Given the description of an element on the screen output the (x, y) to click on. 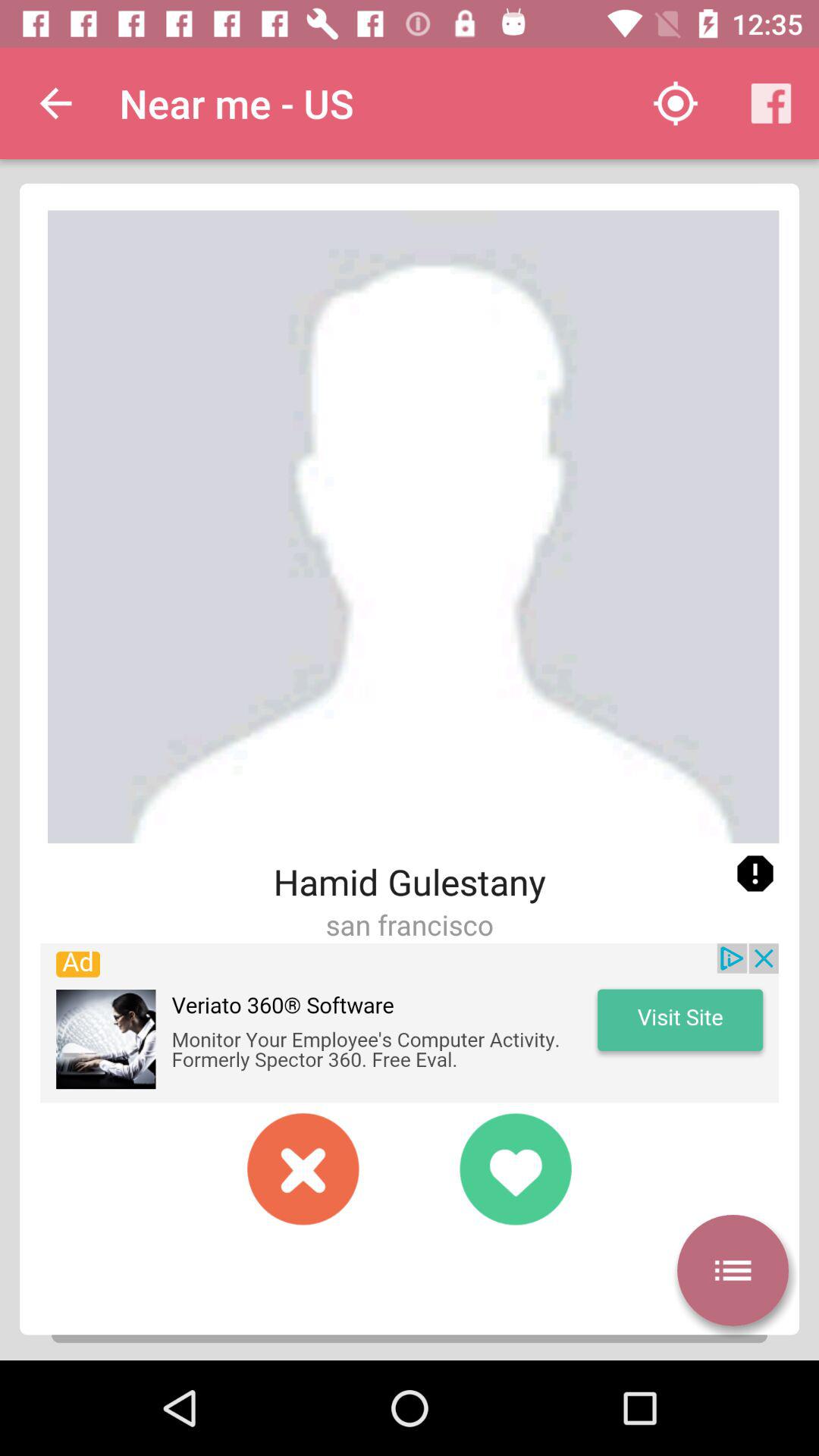
add to favorite (515, 1169)
